Given the description of an element on the screen output the (x, y) to click on. 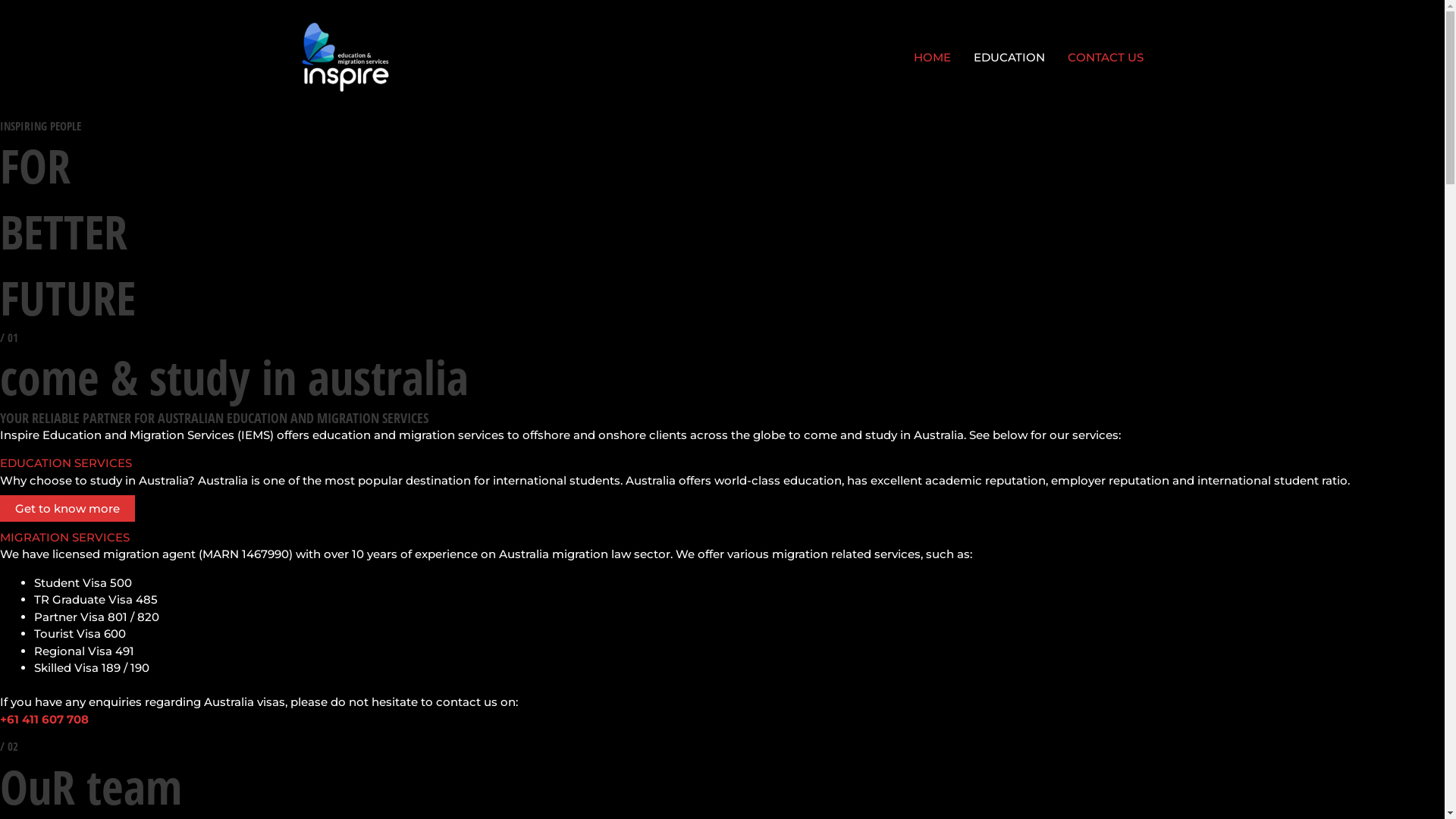
EDUCATION SERVICES Element type: text (65, 462)
EDUCATION Element type: text (1008, 57)
Get to know more Element type: text (67, 508)
HOME Element type: text (932, 57)
CONTACT US Element type: text (1104, 57)
+61 411 607 708 Element type: text (44, 719)
MIGRATION SERVICES Element type: text (64, 537)
